Given the description of an element on the screen output the (x, y) to click on. 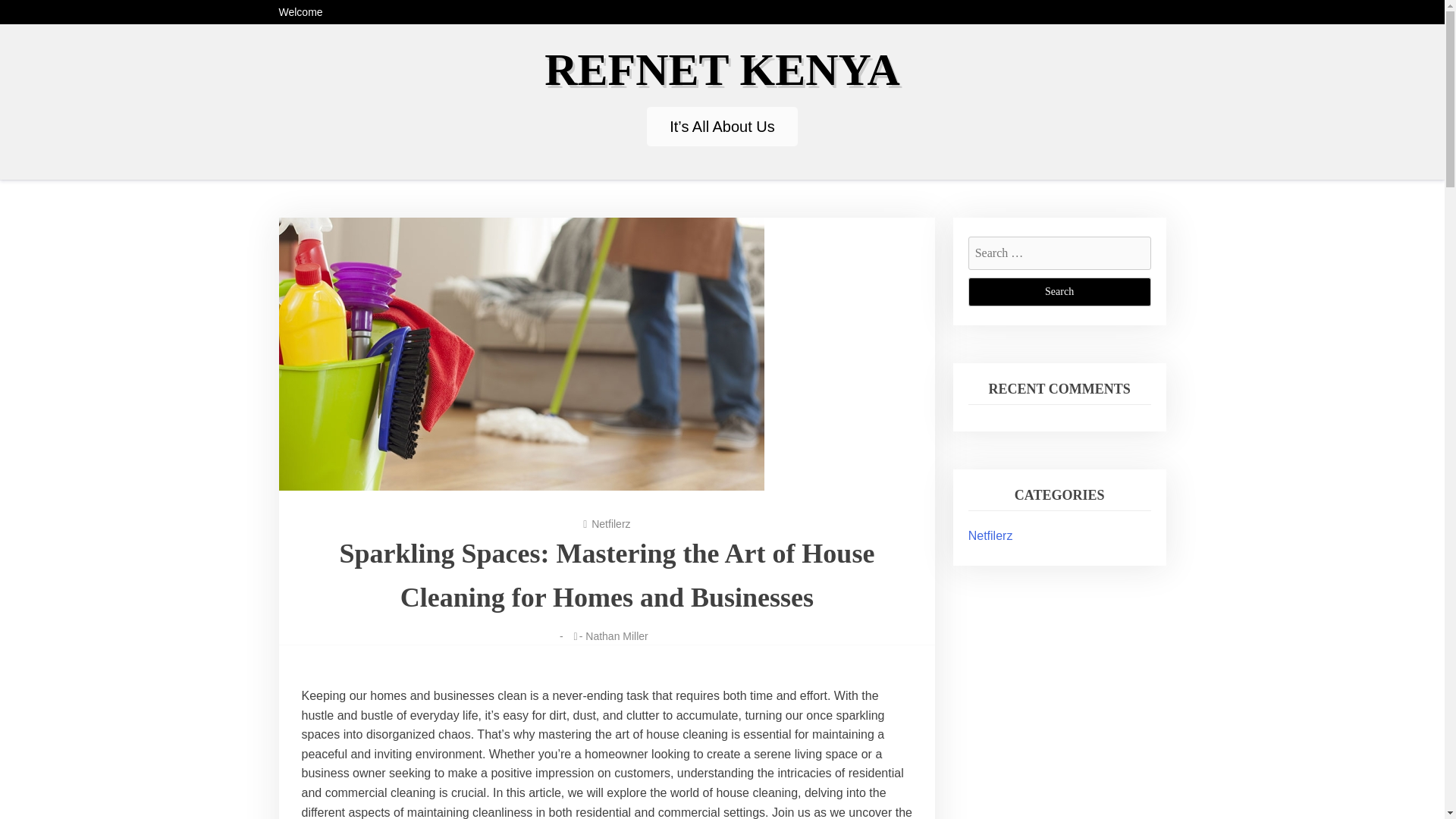
Search (1059, 291)
Search (1059, 291)
Nathan Miller (616, 635)
Netfilerz (610, 523)
REFNET KENYA (721, 70)
Netfilerz (990, 535)
Search (1059, 291)
